Given the description of an element on the screen output the (x, y) to click on. 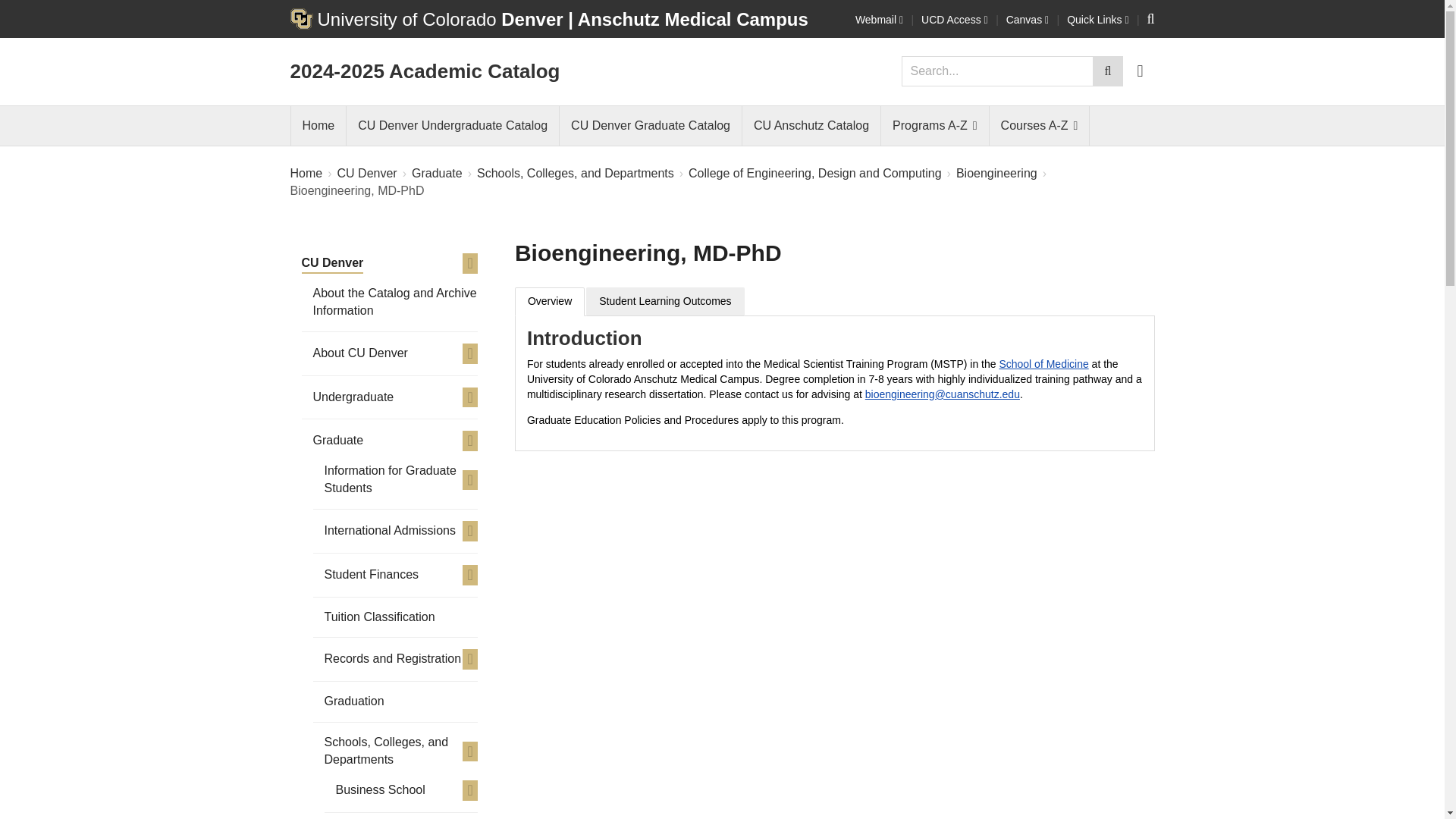
Canvas (1027, 19)
Webmail (879, 19)
Quick Links (1097, 19)
UCD Access (954, 19)
